Given the description of an element on the screen output the (x, y) to click on. 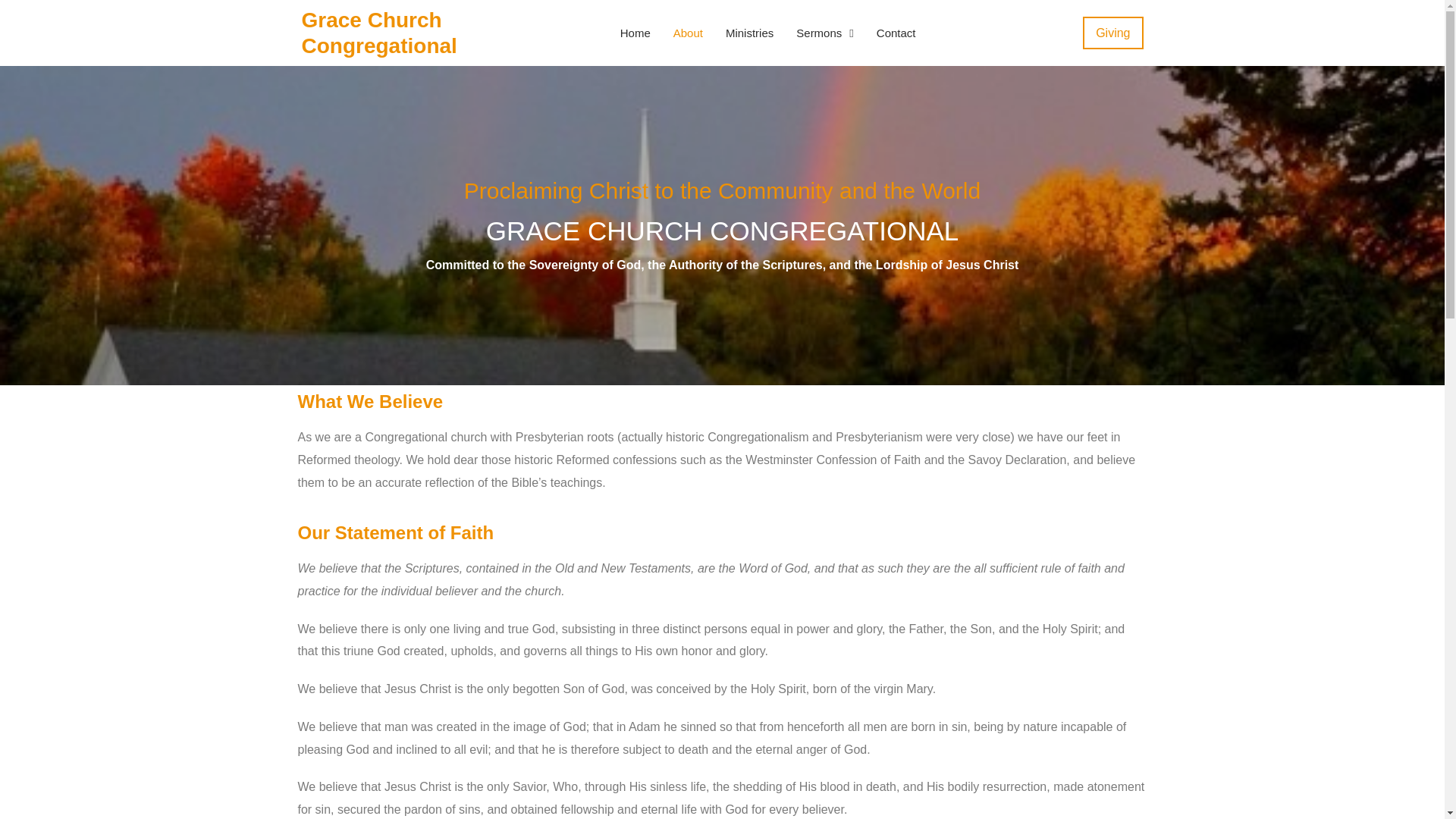
Home (635, 33)
Giving (1112, 32)
Ministries (748, 33)
Sermons (825, 33)
About (687, 33)
Contact (896, 33)
Grace Church Congregational (379, 32)
